Given the description of an element on the screen output the (x, y) to click on. 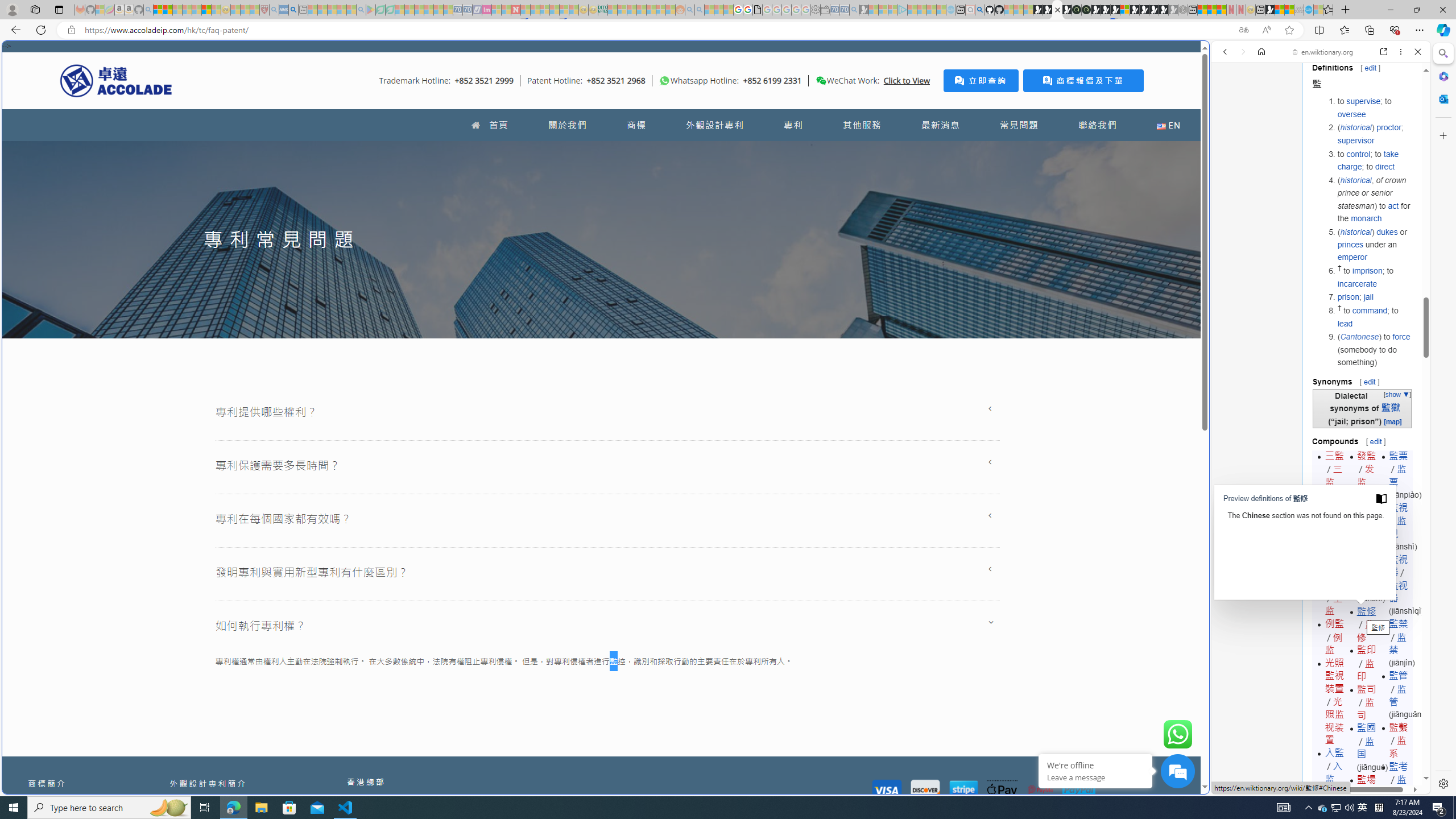
command (1369, 310)
edit (1375, 441)
Utah sues federal government - Search - Sleeping (699, 9)
VIDEOS (1300, 130)
act (1393, 205)
(historical) dukes or princes under an emperor (1374, 244)
Search Filter, IMAGES (1262, 129)
Search Filter, Search Tools (1350, 129)
Tabs you've opened (885, 151)
Play Free Online Games | Games from Microsoft Start (1144, 9)
